Given the description of an element on the screen output the (x, y) to click on. 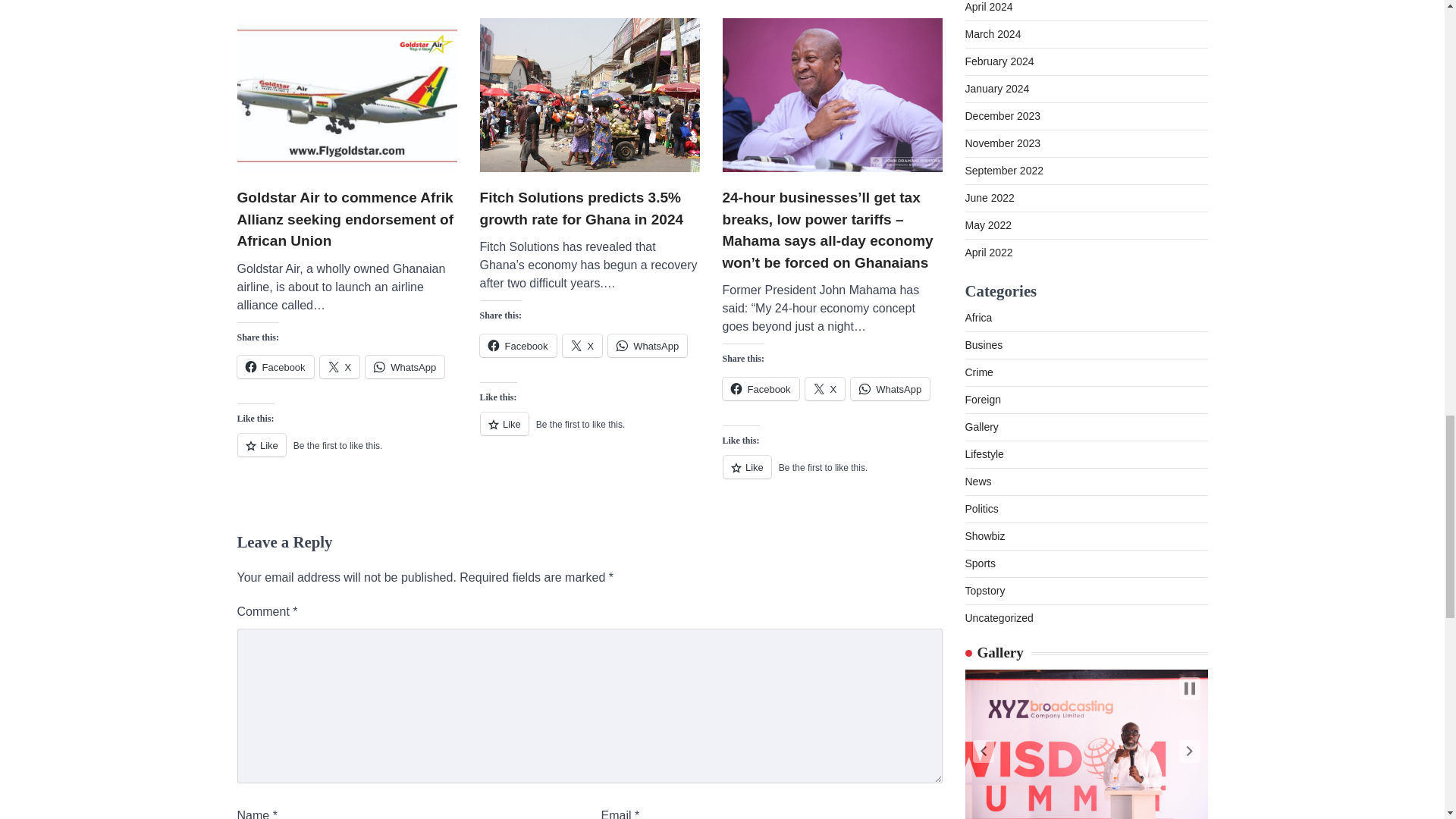
Click to share on WhatsApp (404, 366)
Facebook (517, 345)
Click to share on WhatsApp (647, 345)
Click to share on X (582, 345)
WhatsApp (404, 366)
Click to share on Facebook (517, 345)
Facebook (274, 366)
Click to share on Facebook (274, 366)
X (339, 366)
